Given the description of an element on the screen output the (x, y) to click on. 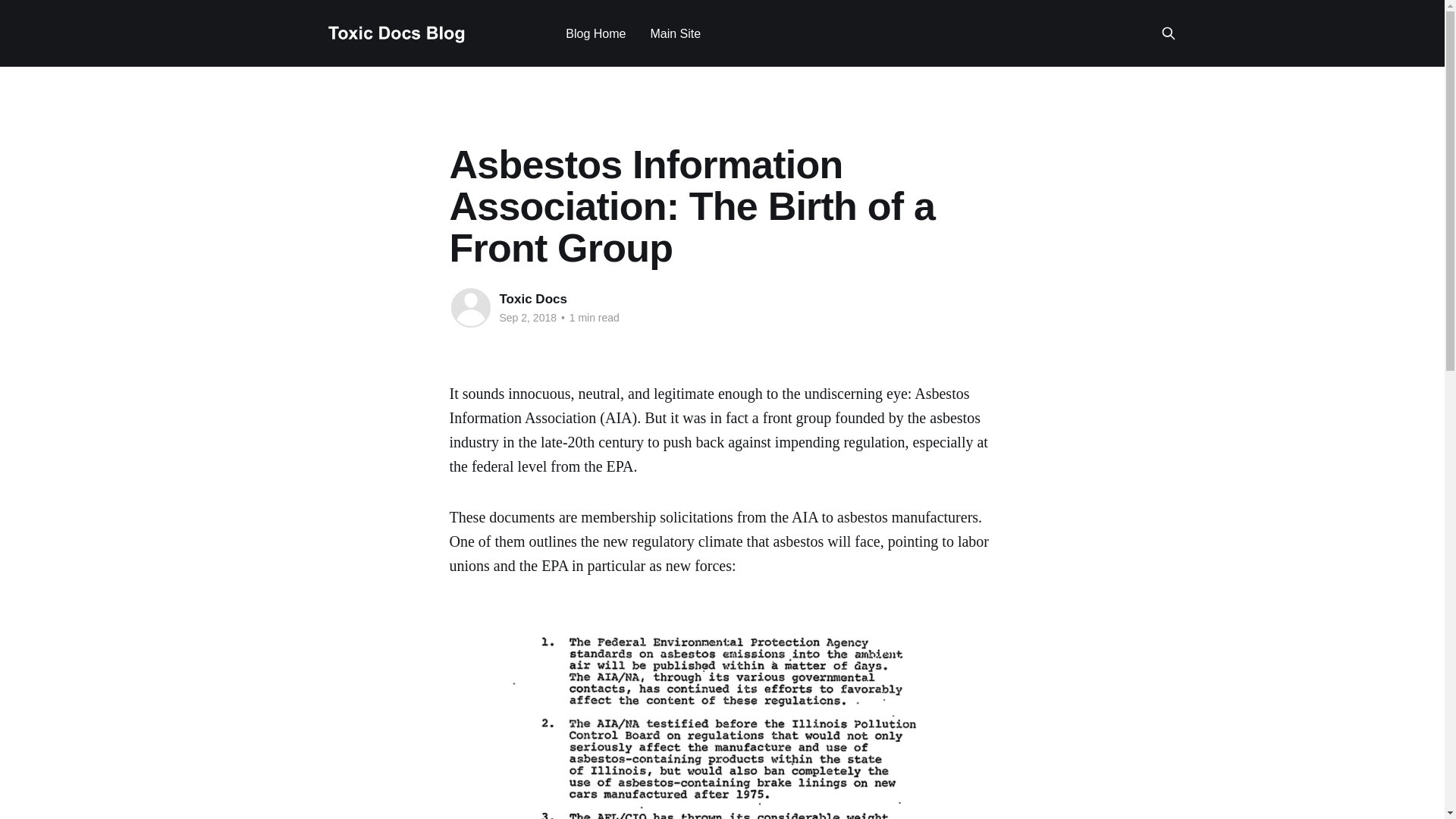
Main Site (674, 33)
Blog Home (596, 33)
Toxic Docs (532, 298)
